Given the description of an element on the screen output the (x, y) to click on. 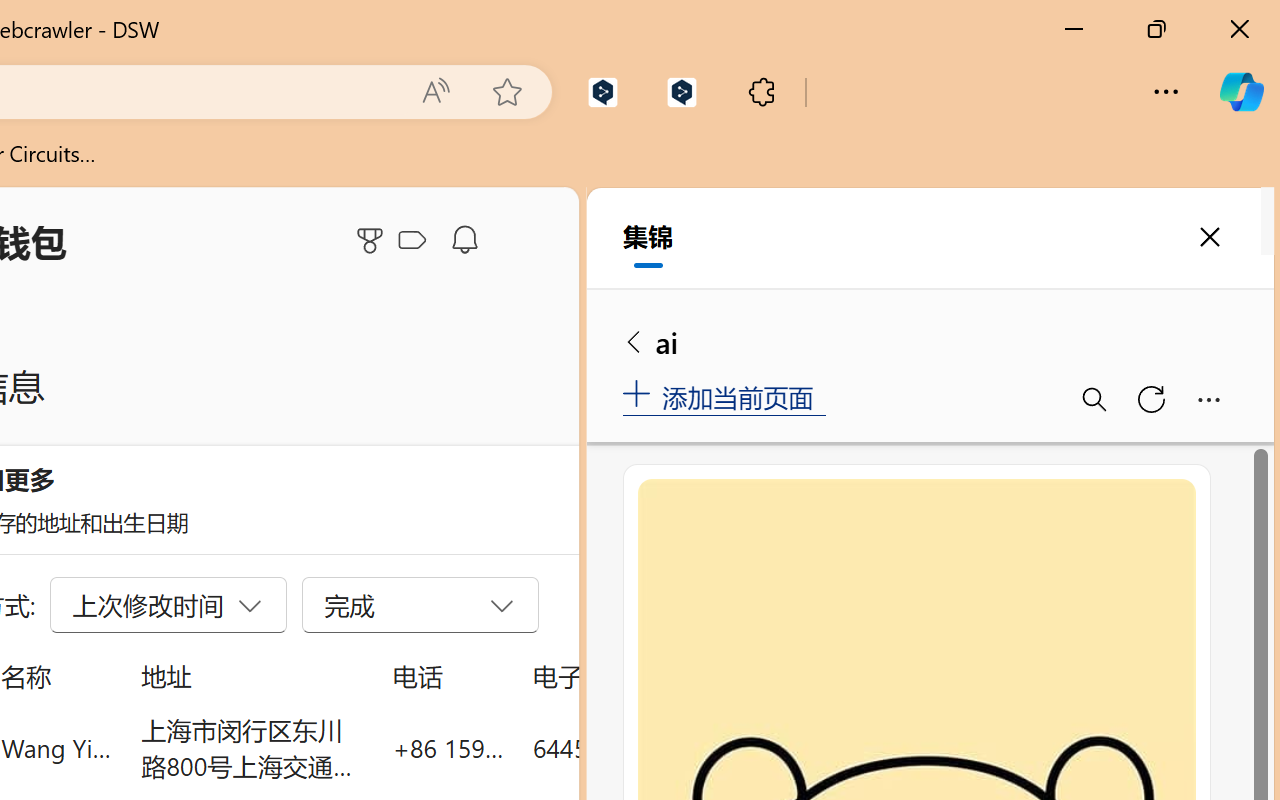
Microsoft Cashback (415, 241)
Class: ___1lmltc5 f1agt3bx f12qytpq (411, 241)
